Given the description of an element on the screen output the (x, y) to click on. 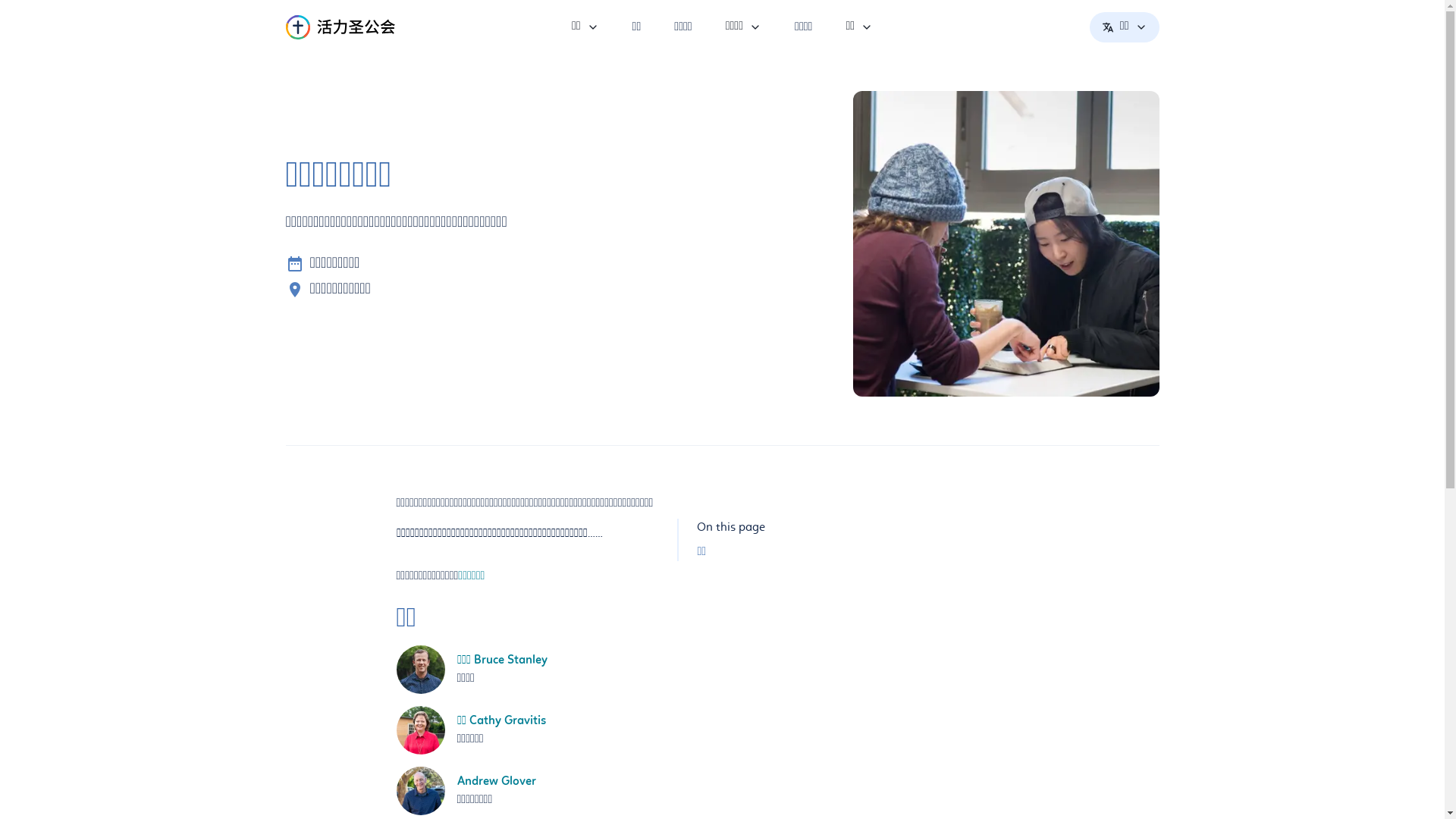
Andrew Glover Element type: text (495, 781)
